Given the description of an element on the screen output the (x, y) to click on. 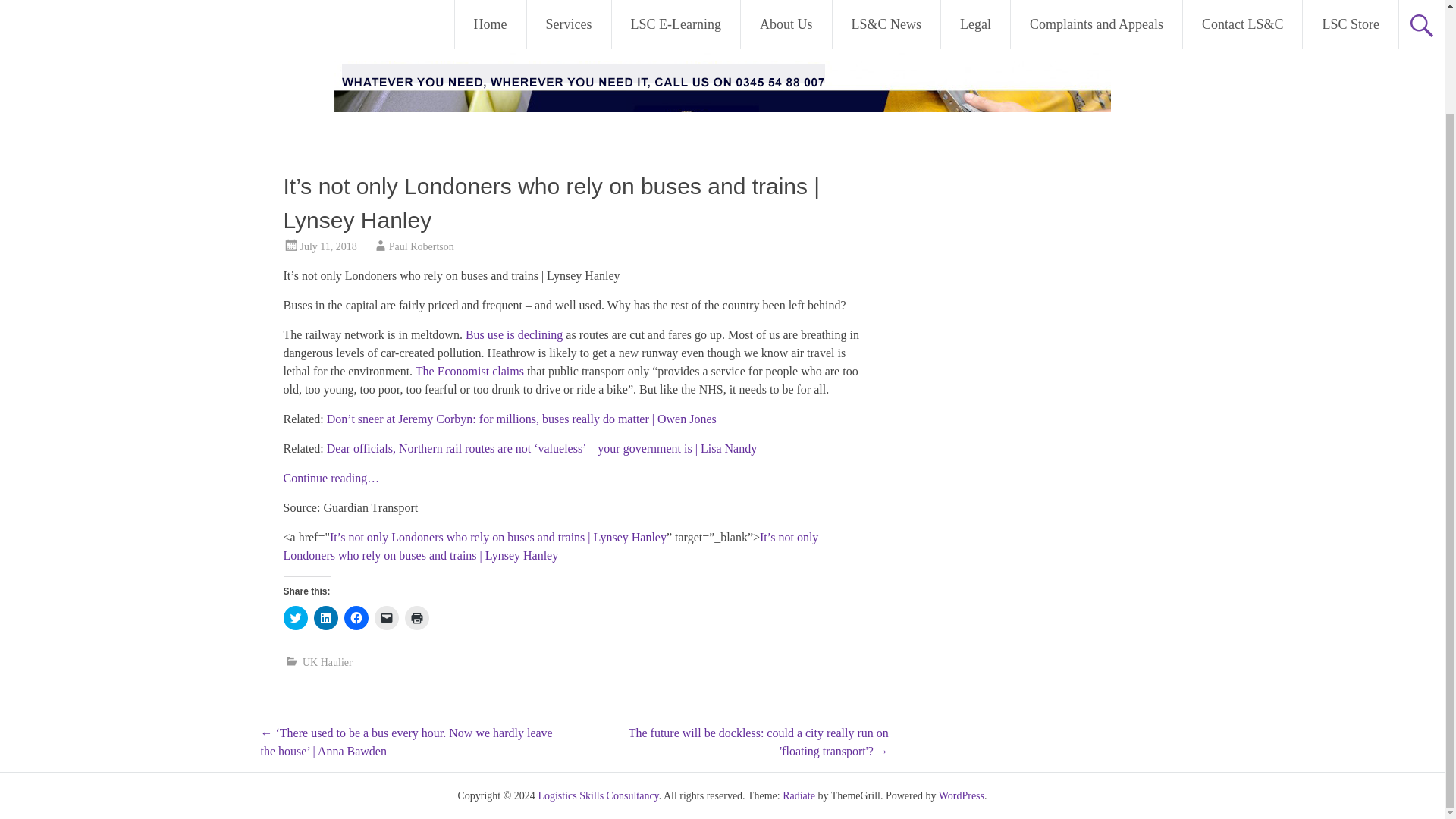
Radiate (799, 795)
Click to email a link to a friend (386, 617)
Click to share on LinkedIn (325, 617)
Logistics Skills Consultancy (597, 795)
WordPress (961, 795)
Click to share on Facebook (355, 617)
Click to print (416, 617)
Click to share on Twitter (295, 617)
